Given the description of an element on the screen output the (x, y) to click on. 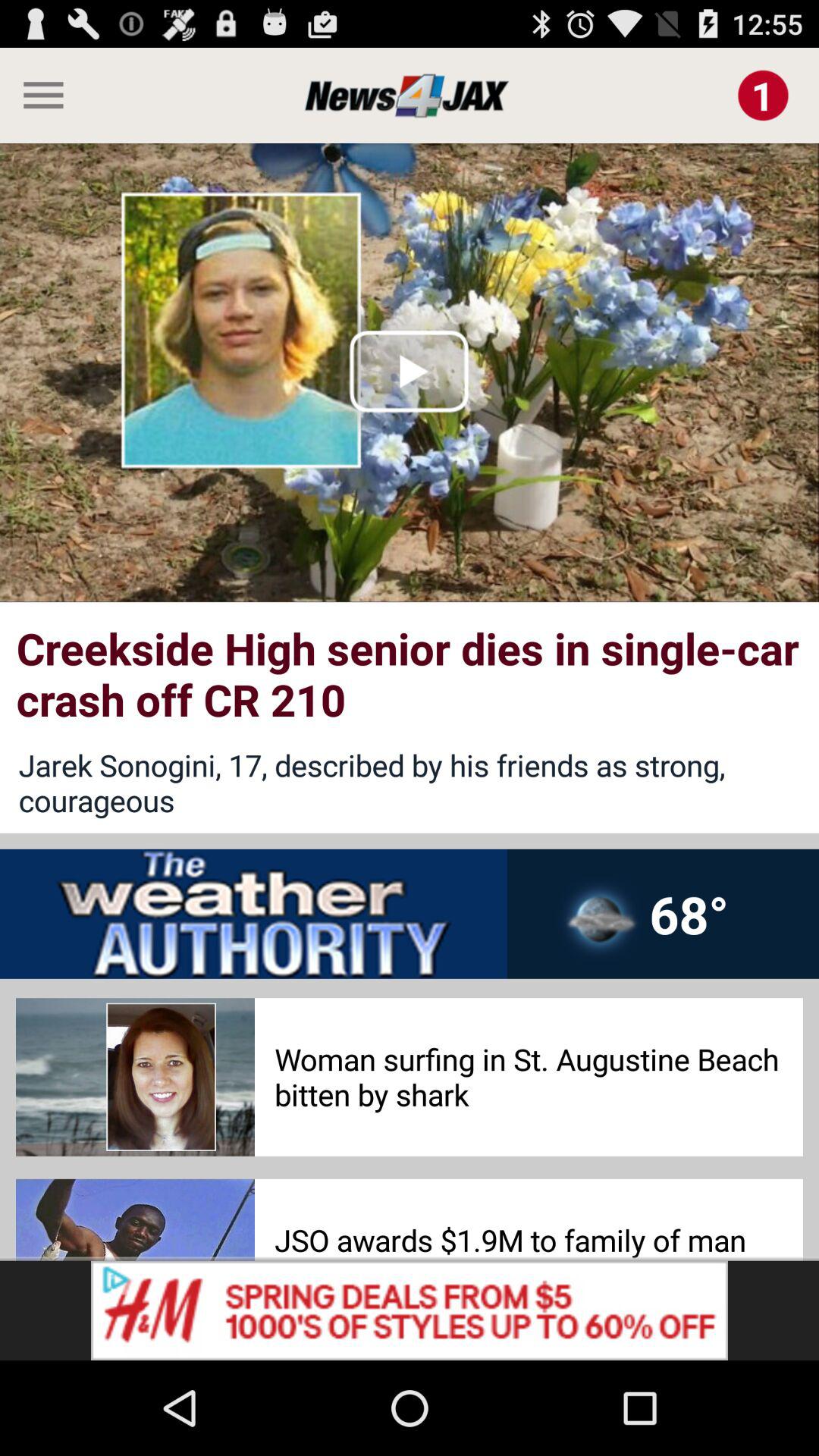
open notification (762, 95)
